Given the description of an element on the screen output the (x, y) to click on. 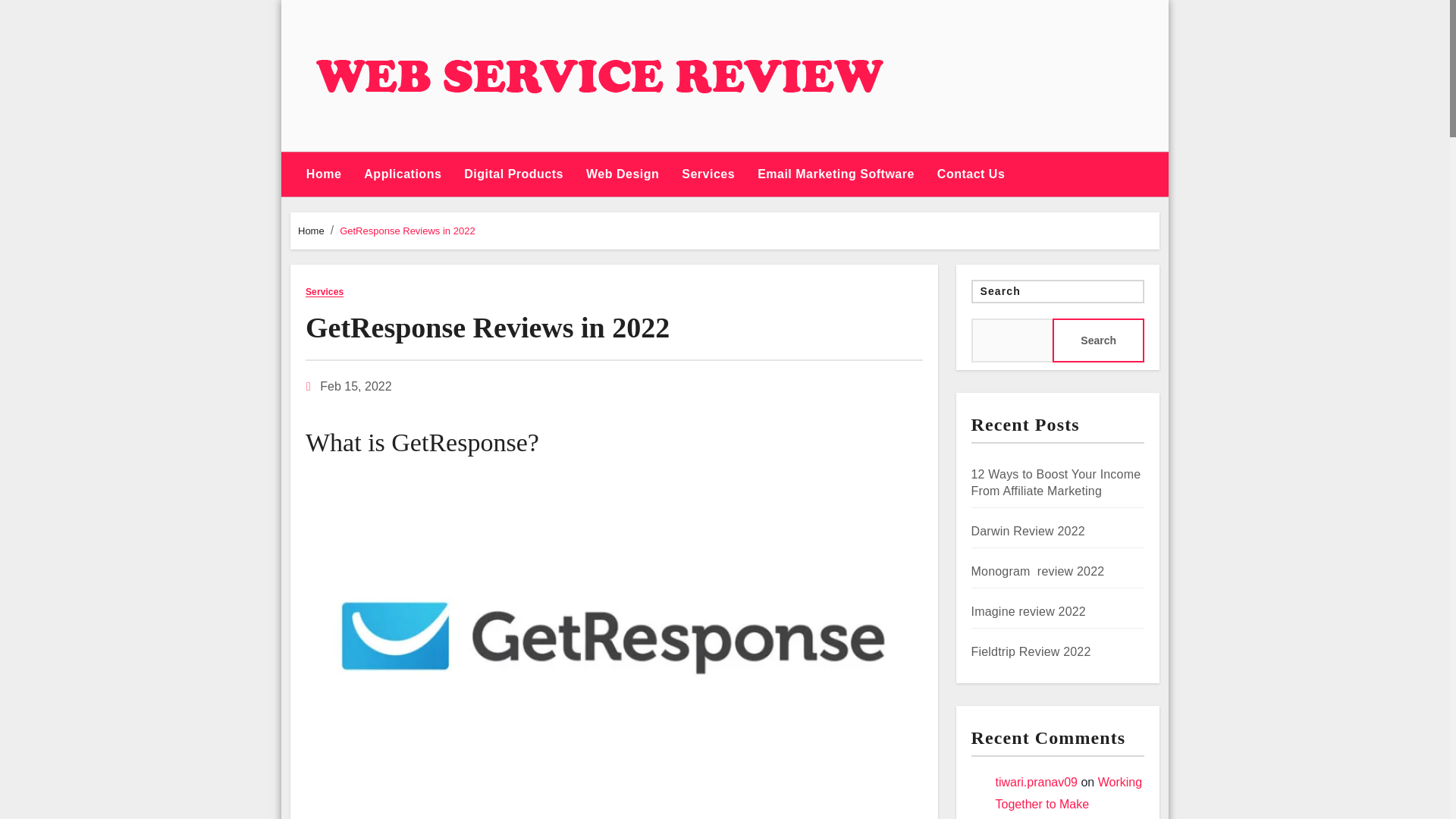
Home (323, 174)
Applications (402, 174)
Digital Products (513, 174)
Digital Products (513, 174)
Contact Us (971, 174)
Home (311, 230)
GetResponse Reviews in 2022 (407, 230)
Home (323, 174)
Permalink to: GetResponse Reviews in 2022 (487, 327)
Contact Us (971, 174)
GetResponse Reviews in 2022 (487, 327)
Applications (402, 174)
Web Design (622, 174)
Search (1098, 340)
Email Marketing Software (835, 174)
